Given the description of an element on the screen output the (x, y) to click on. 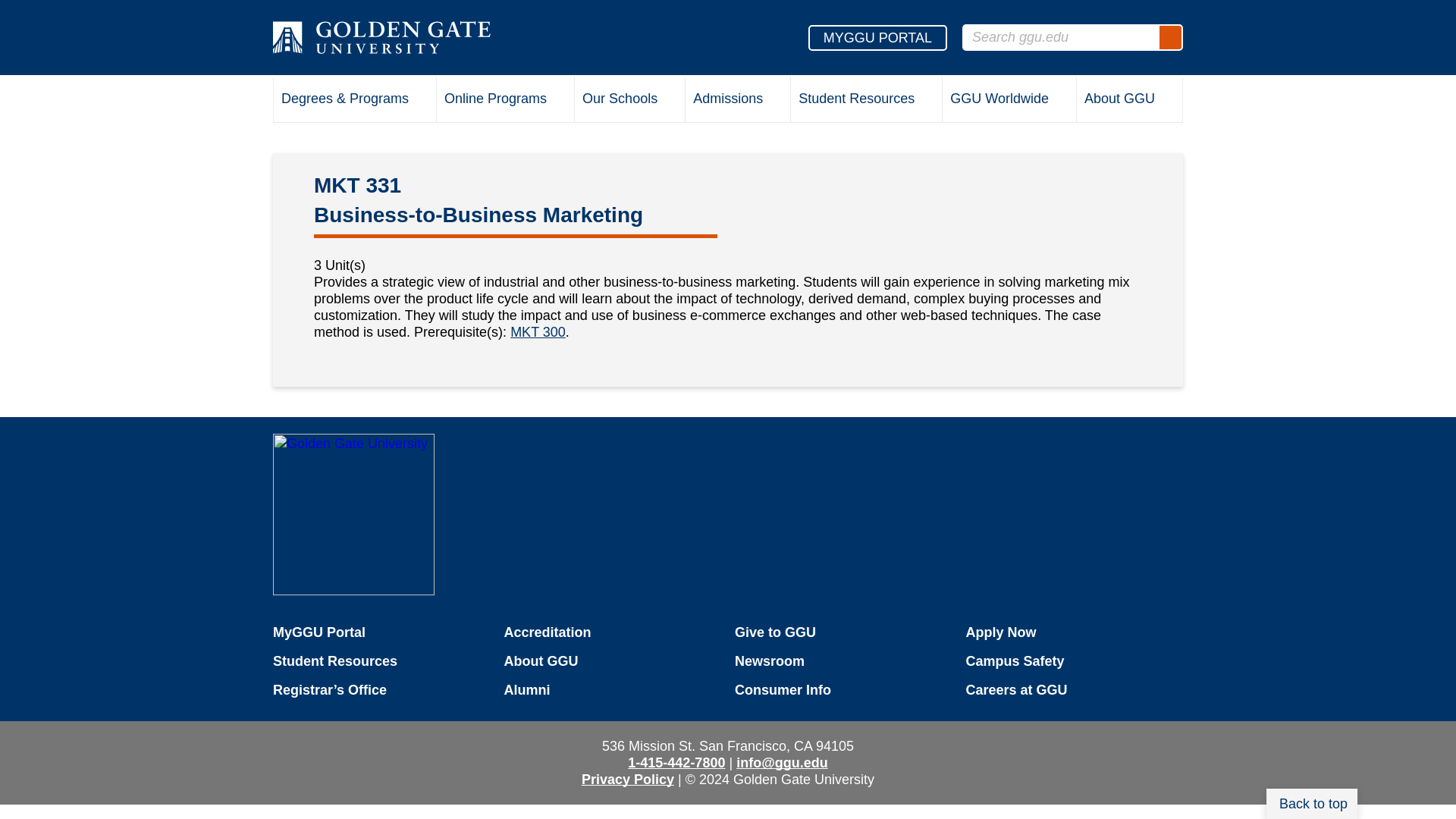
Expand Our Schools Submenu (669, 100)
Expand Student Resources Submenu (927, 100)
GGU Worldwide (1008, 100)
Expand About GGU Submenu (1167, 100)
Online Programs (504, 100)
Admissions (737, 100)
MYGGU PORTAL (877, 36)
Expand Admissions Submenu (775, 100)
Search (1169, 37)
Student Resources (866, 100)
